Given the description of an element on the screen output the (x, y) to click on. 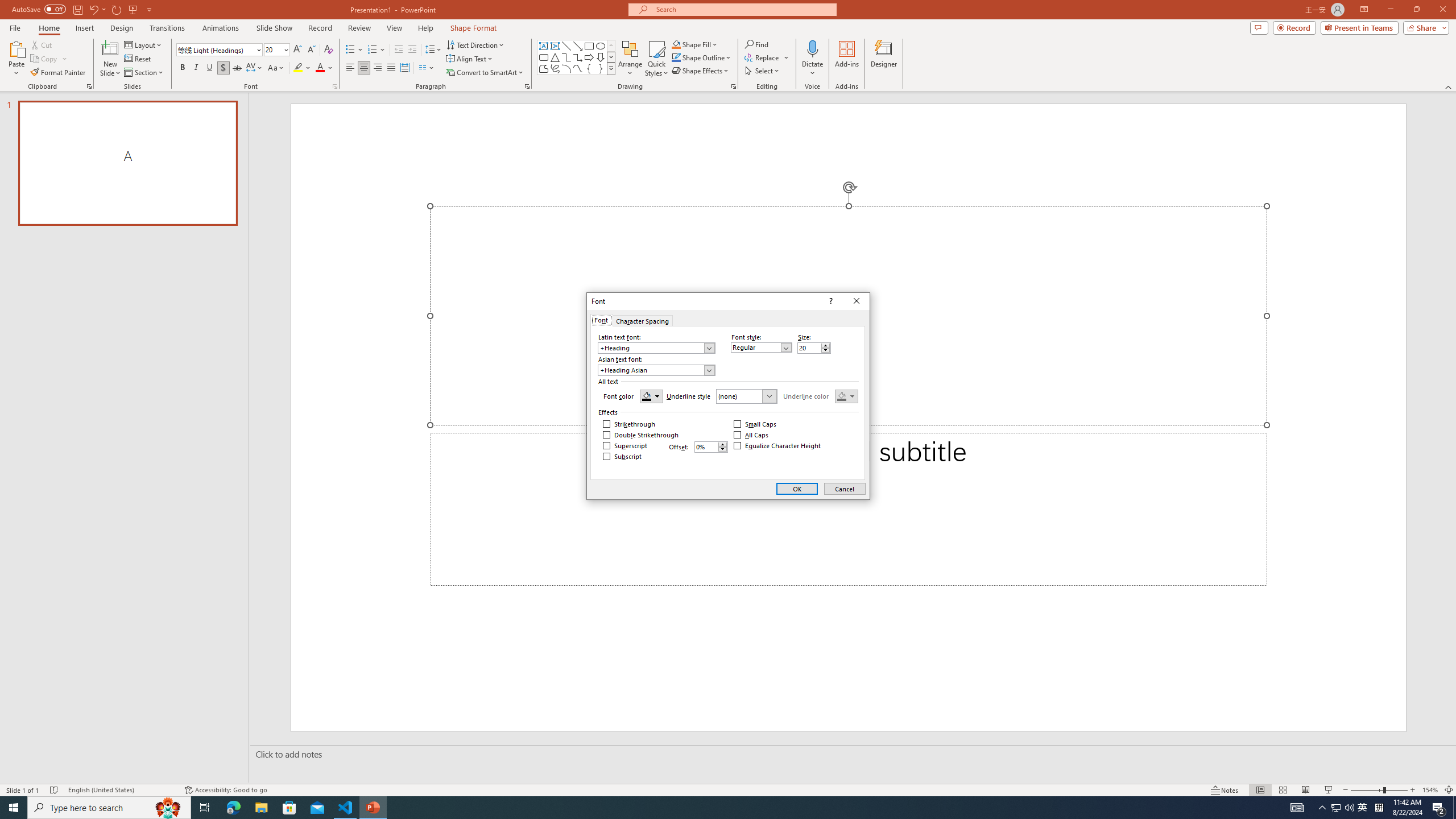
Superscript (624, 445)
